Given the description of an element on the screen output the (x, y) to click on. 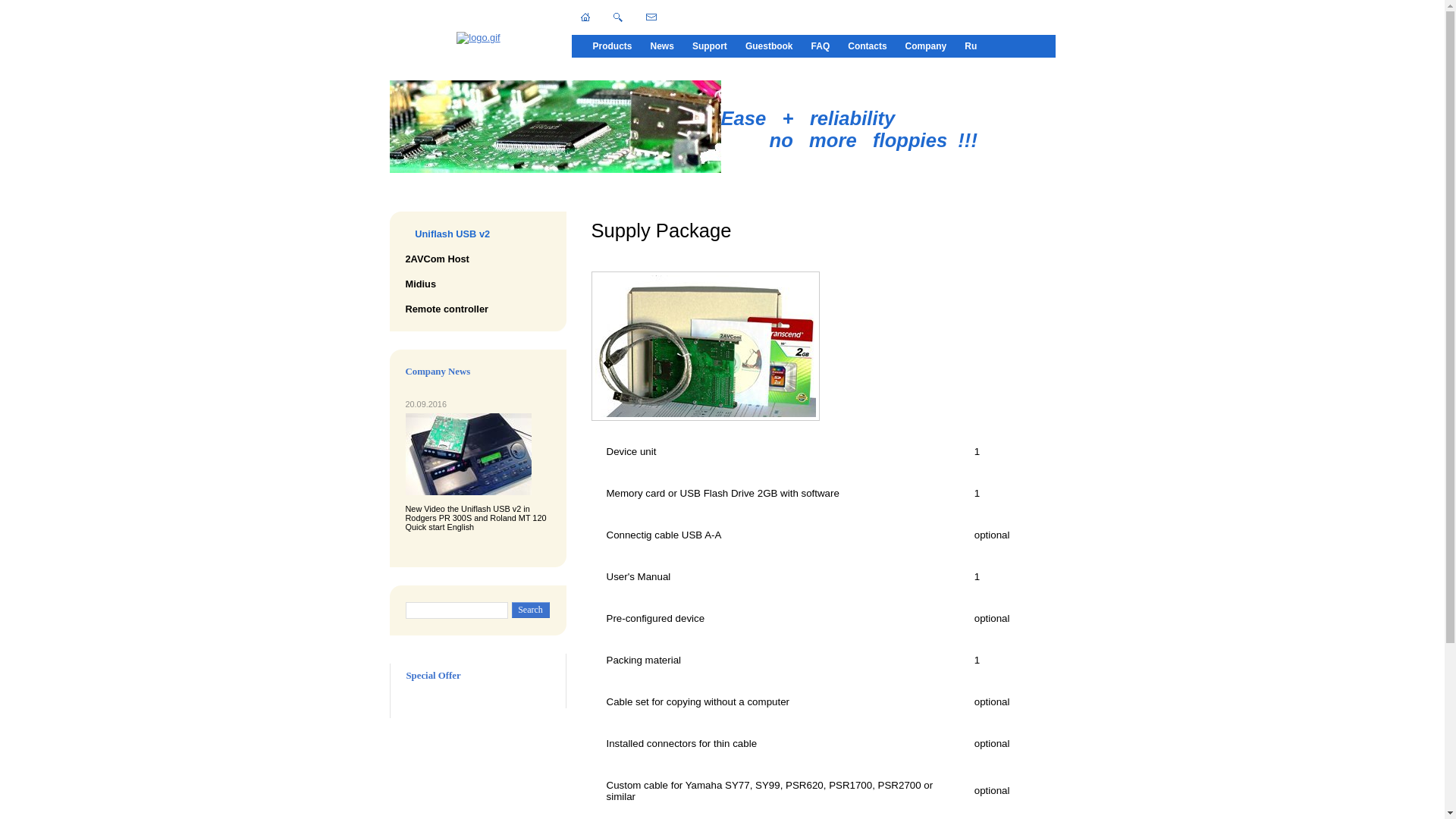
Supply Package Element type: hover (704, 346)
Remote controller Element type: text (450, 308)
logo.gif Element type: hover (477, 37)
Midius Element type: text (424, 283)
Roland_mt120s.jpg Element type: hover (467, 454)
Main Page Element type: hover (478, 37)
Search Element type: text (530, 609)
Feedback Element type: hover (651, 16)
Search Element type: hover (616, 16)
Company Element type: text (926, 45)
Uniflash USB v2 Element type: text (451, 233)
2AVCom Host Element type: text (441, 258)
FAQ Element type: text (820, 45)
Contacts Element type: text (866, 45)
News Element type: text (662, 45)
Ru Element type: text (970, 45)
Main Page Element type: hover (584, 16)
Products Element type: text (612, 45)
Support Element type: text (709, 45)
Guestbook Element type: text (769, 45)
